Given the description of an element on the screen output the (x, y) to click on. 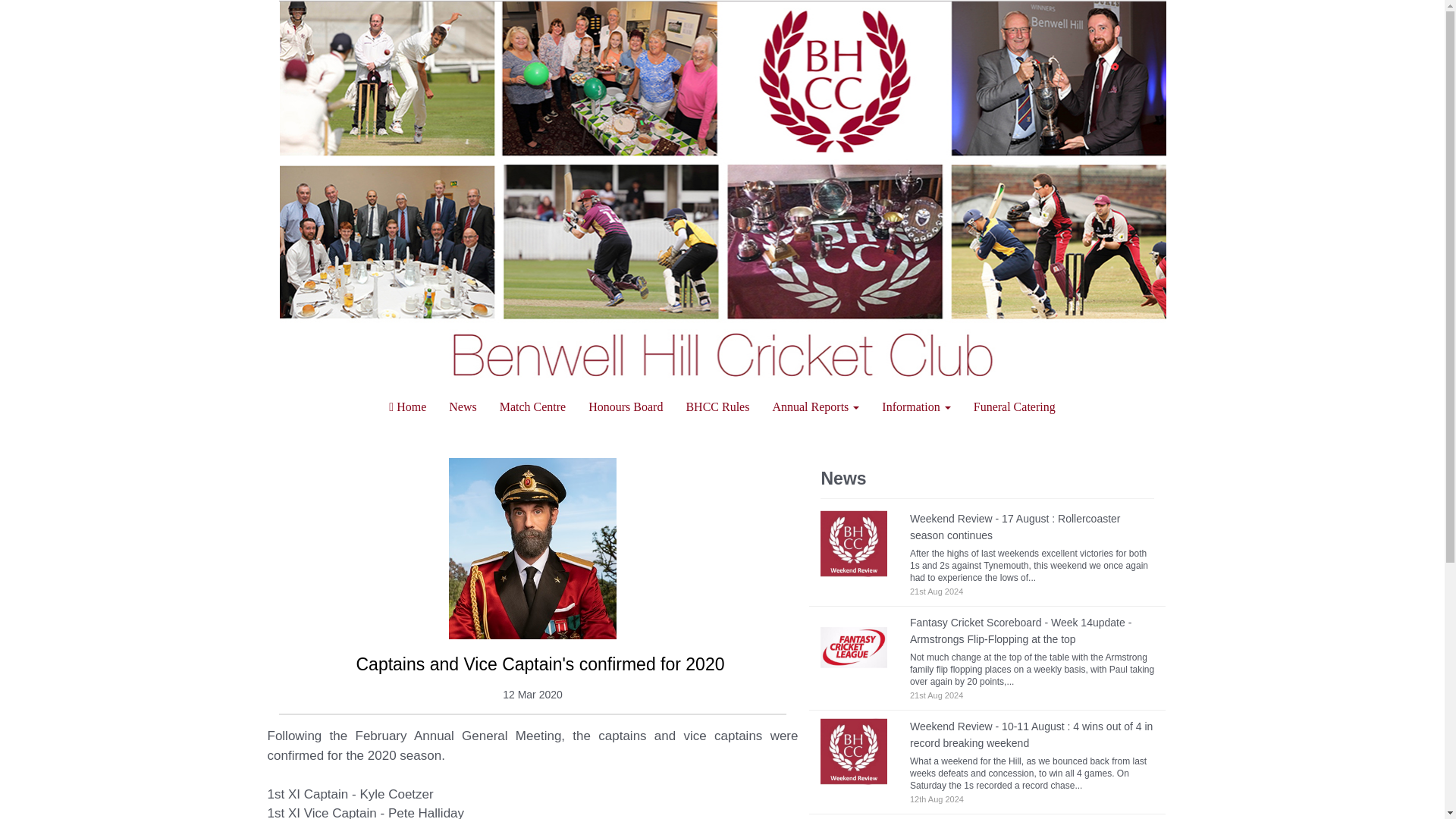
Information (915, 406)
Annual Reports (815, 406)
Funeral Catering (1014, 406)
BHCC Rules (717, 406)
Honours Board (625, 406)
Match Centre (532, 406)
News (462, 406)
Home (407, 406)
